Given the description of an element on the screen output the (x, y) to click on. 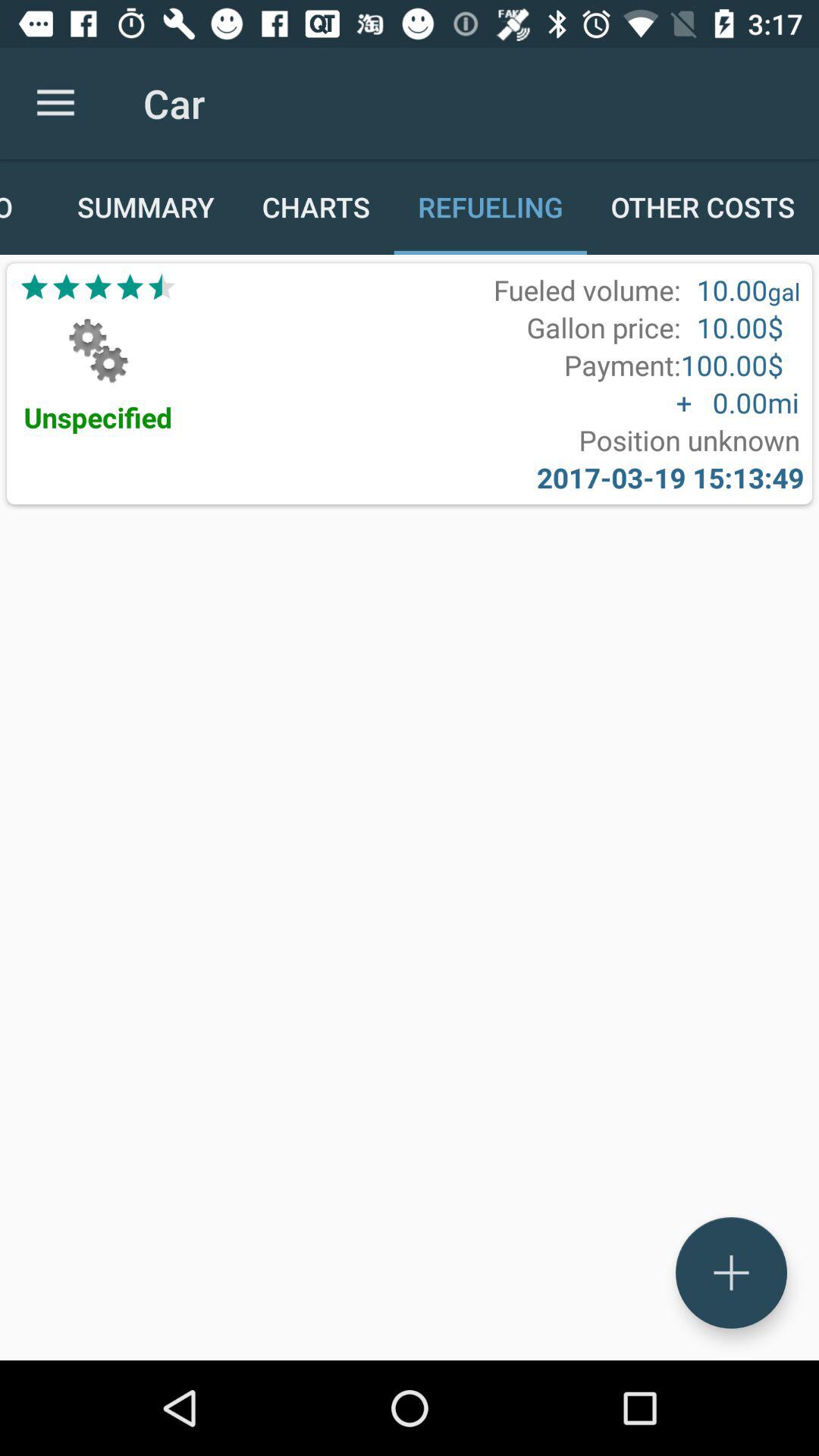
open the app next to the car icon (55, 103)
